Given the description of an element on the screen output the (x, y) to click on. 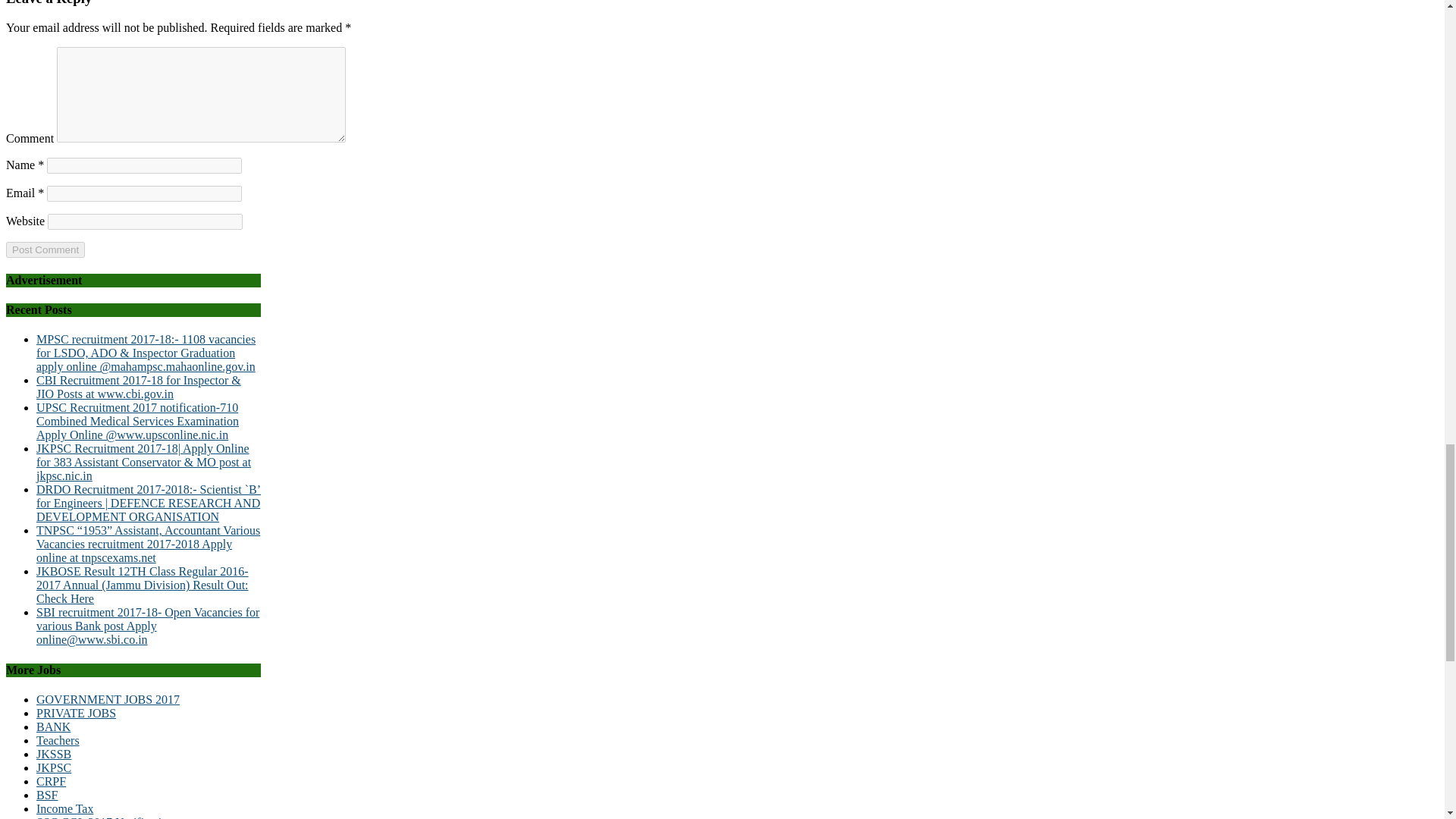
Post Comment (44, 249)
